Given the description of an element on the screen output the (x, y) to click on. 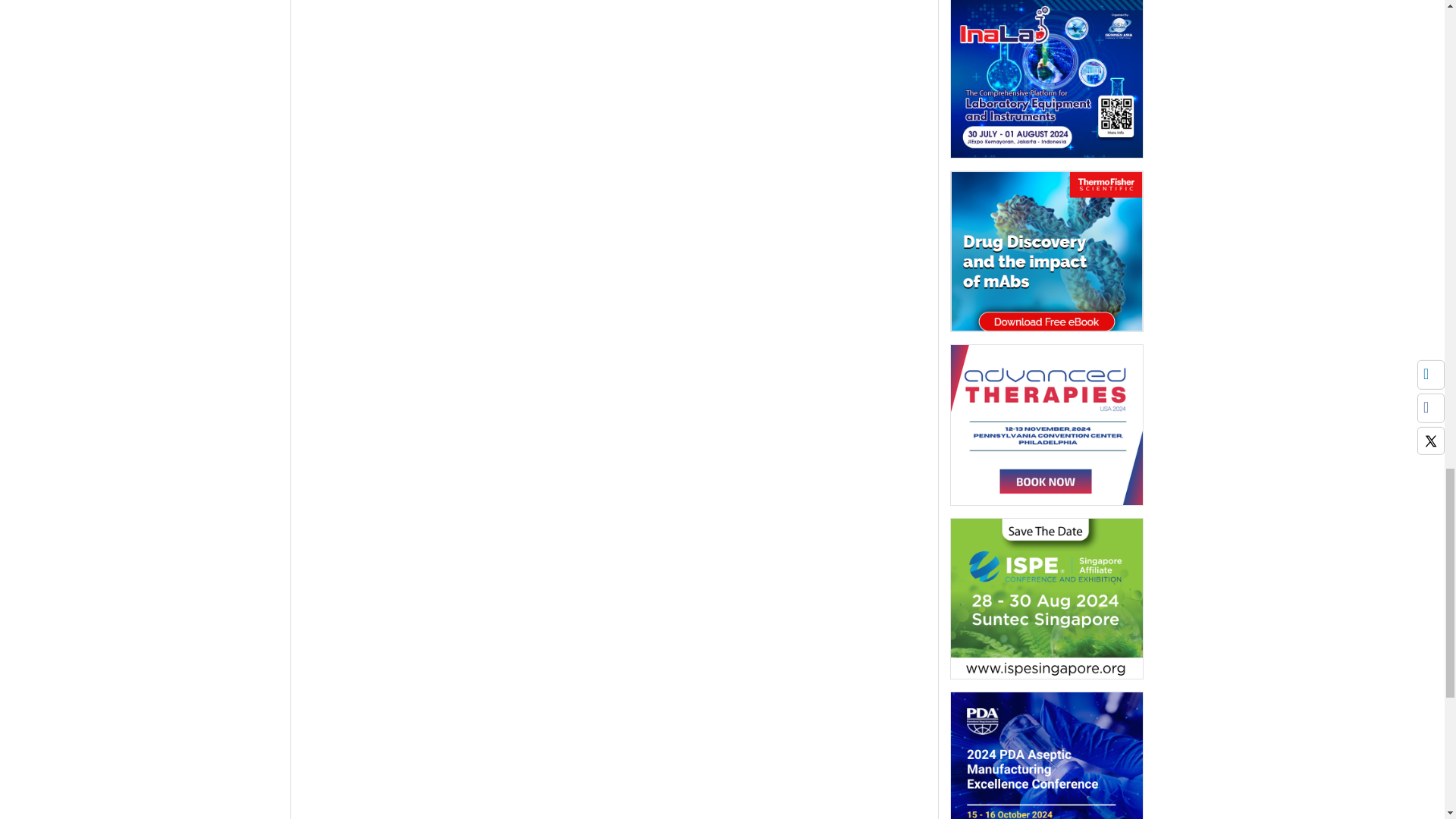
Thermo Fisher - Drug Discovery and the impact of mAbs (1045, 251)
INALAB 2024 (1045, 82)
Thermo Fisher - Drug Discovery and the impact of mAbs (1045, 256)
INALAB 2024 (1045, 79)
Advanced Therapies USA 2024 (1045, 429)
